Given the description of an element on the screen output the (x, y) to click on. 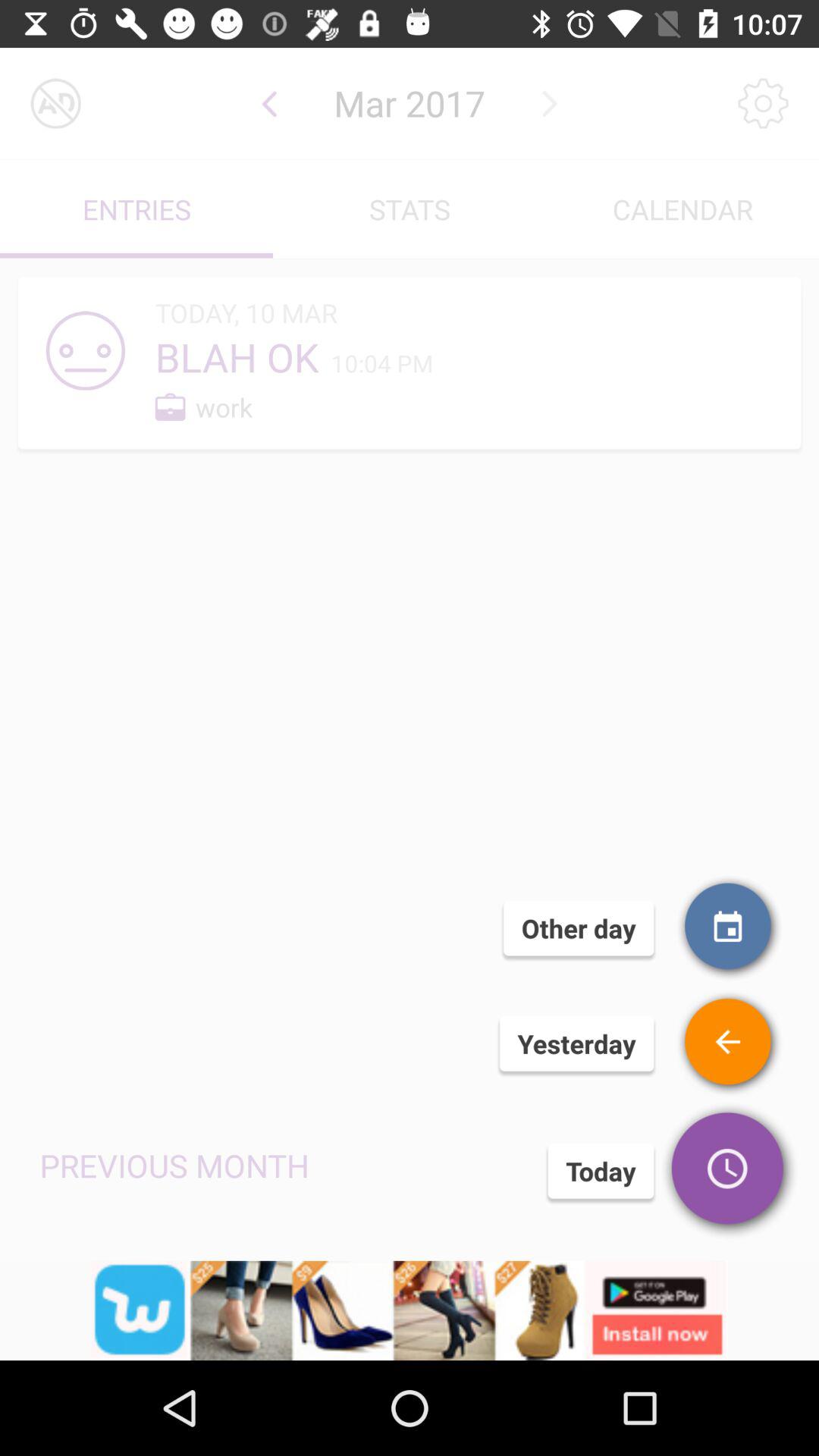
setting button (763, 103)
